Given the description of an element on the screen output the (x, y) to click on. 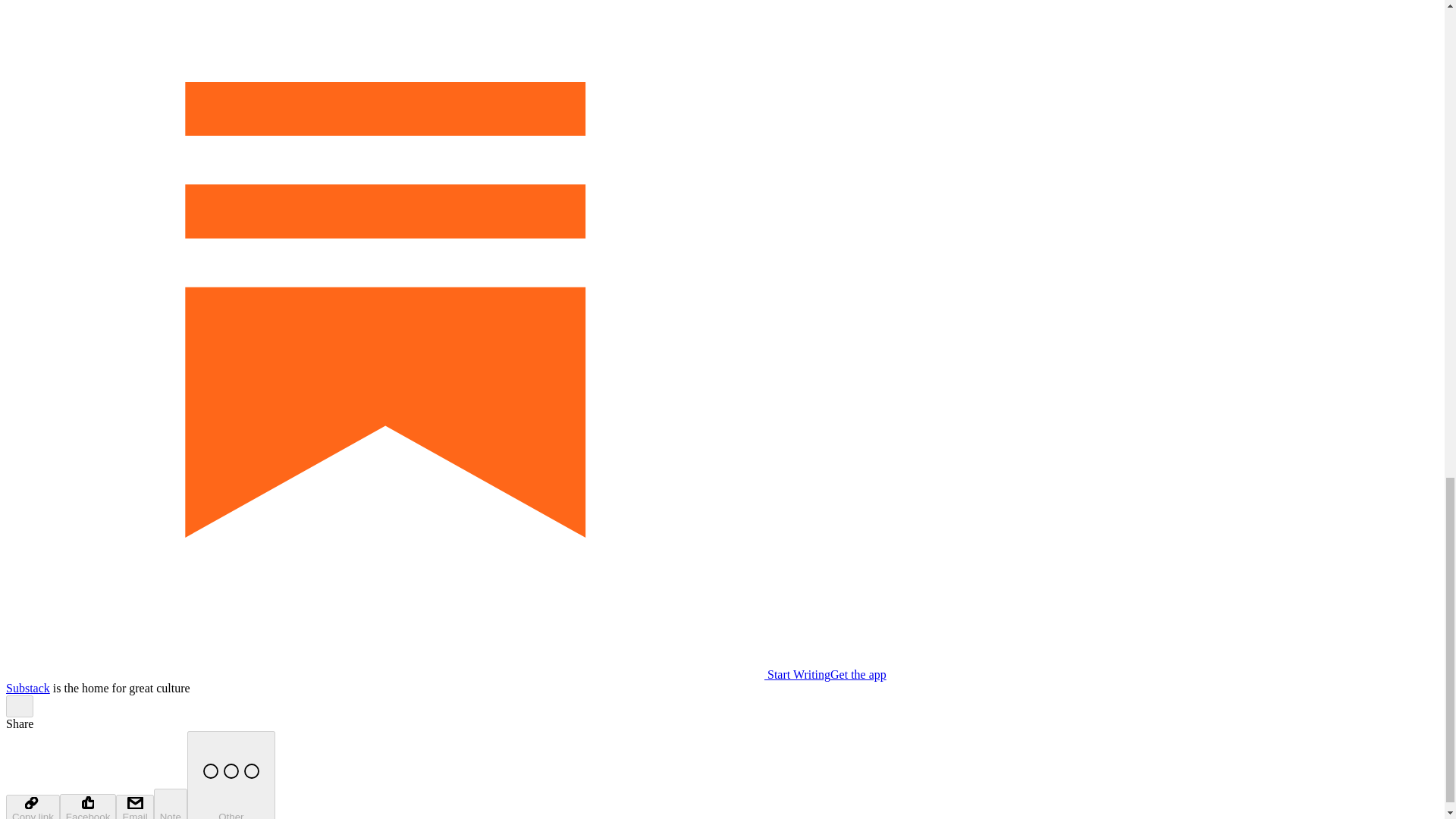
Start Writing (417, 674)
Substack (27, 687)
Get the app (857, 674)
